Given the description of an element on the screen output the (x, y) to click on. 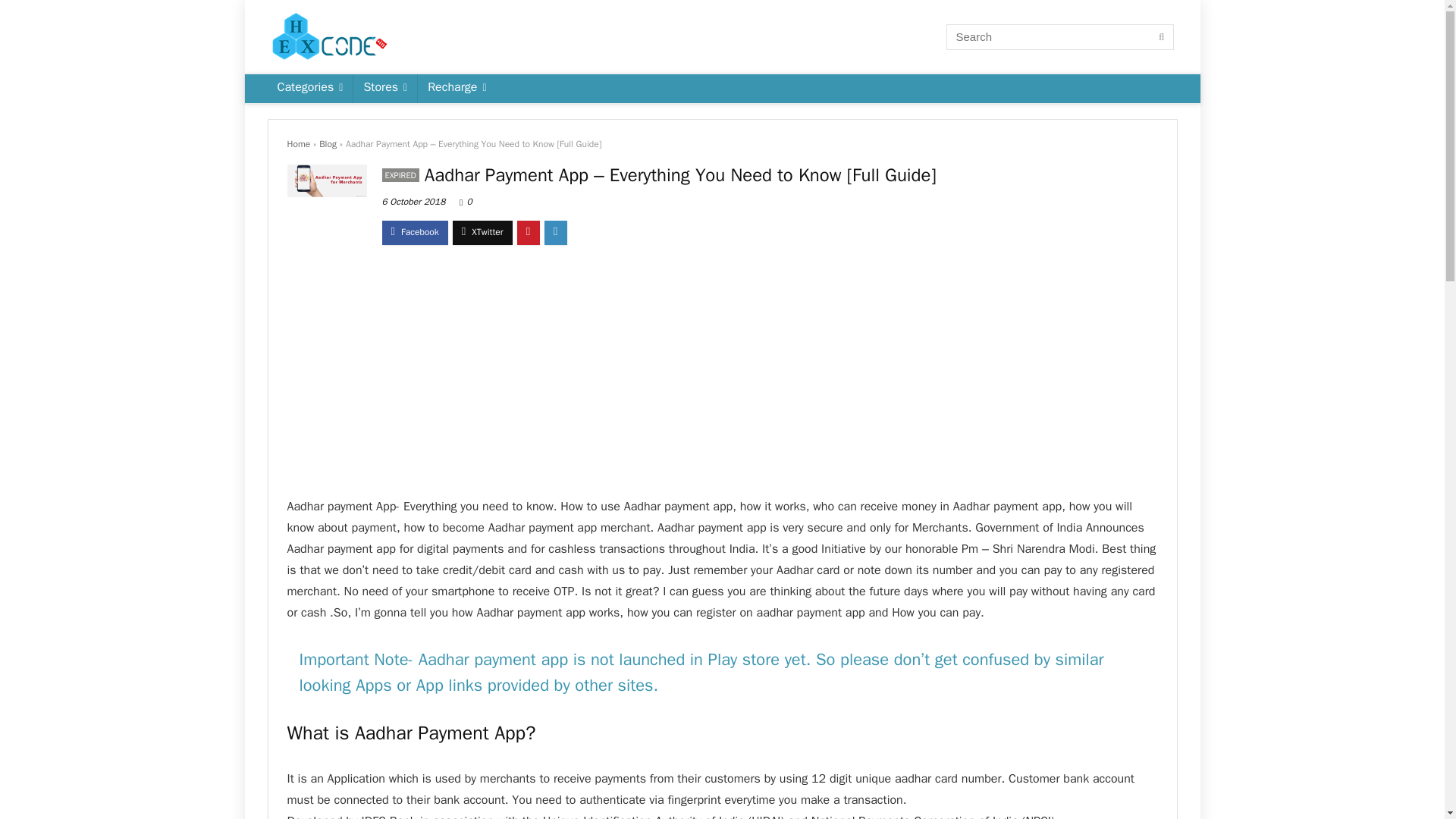
Recharge (456, 88)
Home (298, 143)
Stores (384, 88)
Blog (327, 143)
Categories (309, 88)
